Given the description of an element on the screen output the (x, y) to click on. 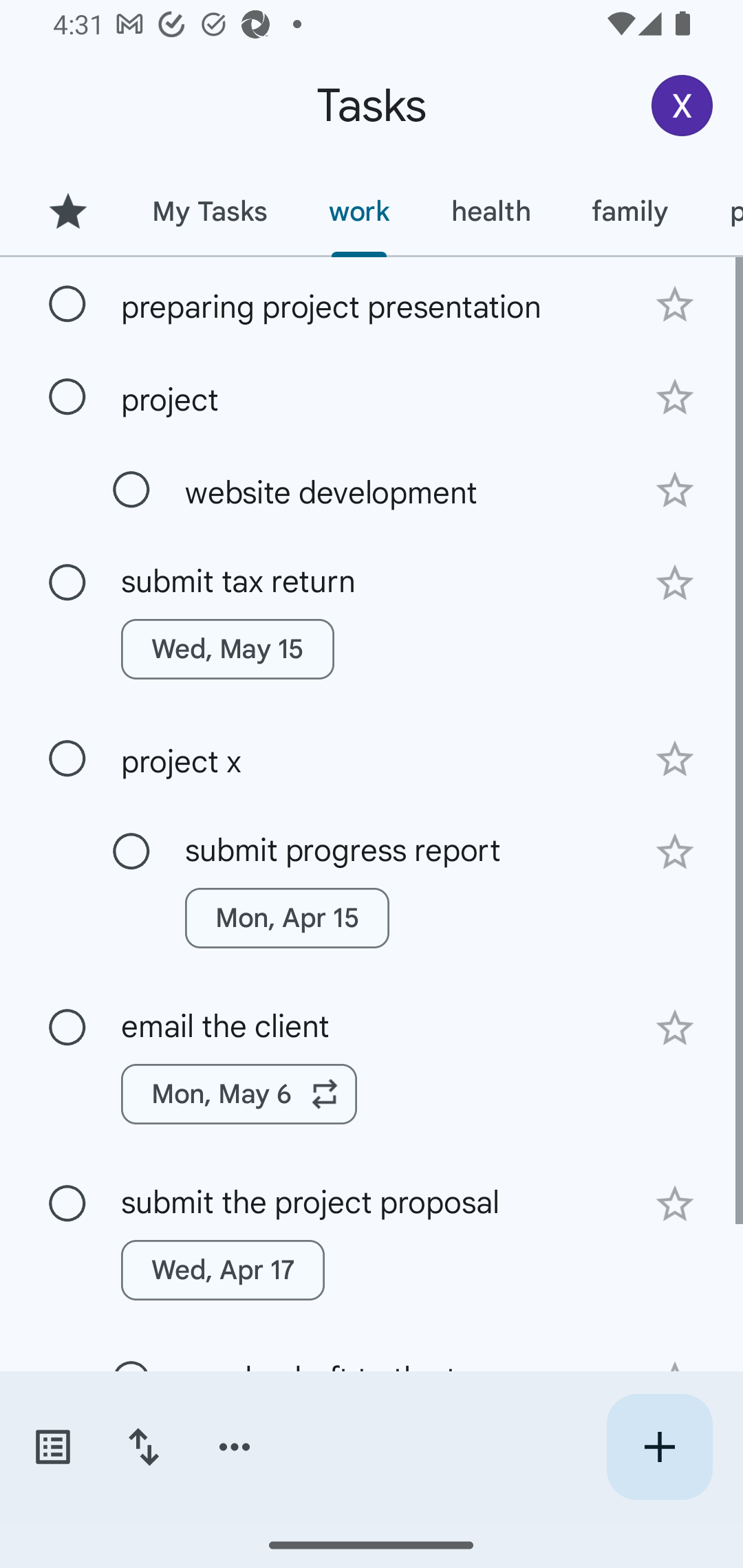
Starred (67, 211)
My Tasks (209, 211)
health (490, 211)
family (629, 211)
Add star (674, 303)
Mark as complete (67, 304)
Add star (674, 397)
Mark as complete (67, 397)
Add star (674, 490)
Mark as complete (131, 489)
Add star (674, 582)
Mark as complete (67, 582)
Wed, May 15 (227, 648)
Add star (674, 758)
Mark as complete (67, 759)
Add star (674, 850)
Mark as complete (131, 851)
Mon, Apr 15 (287, 917)
Add star (674, 1028)
Mark as complete (67, 1027)
Mon, May 6 (239, 1093)
Add star (674, 1203)
Mark as complete (67, 1204)
Wed, Apr 17 (222, 1269)
Switch task lists (52, 1447)
Create new task (659, 1446)
Change sort order (143, 1446)
More options (234, 1446)
